Given the description of an element on the screen output the (x, y) to click on. 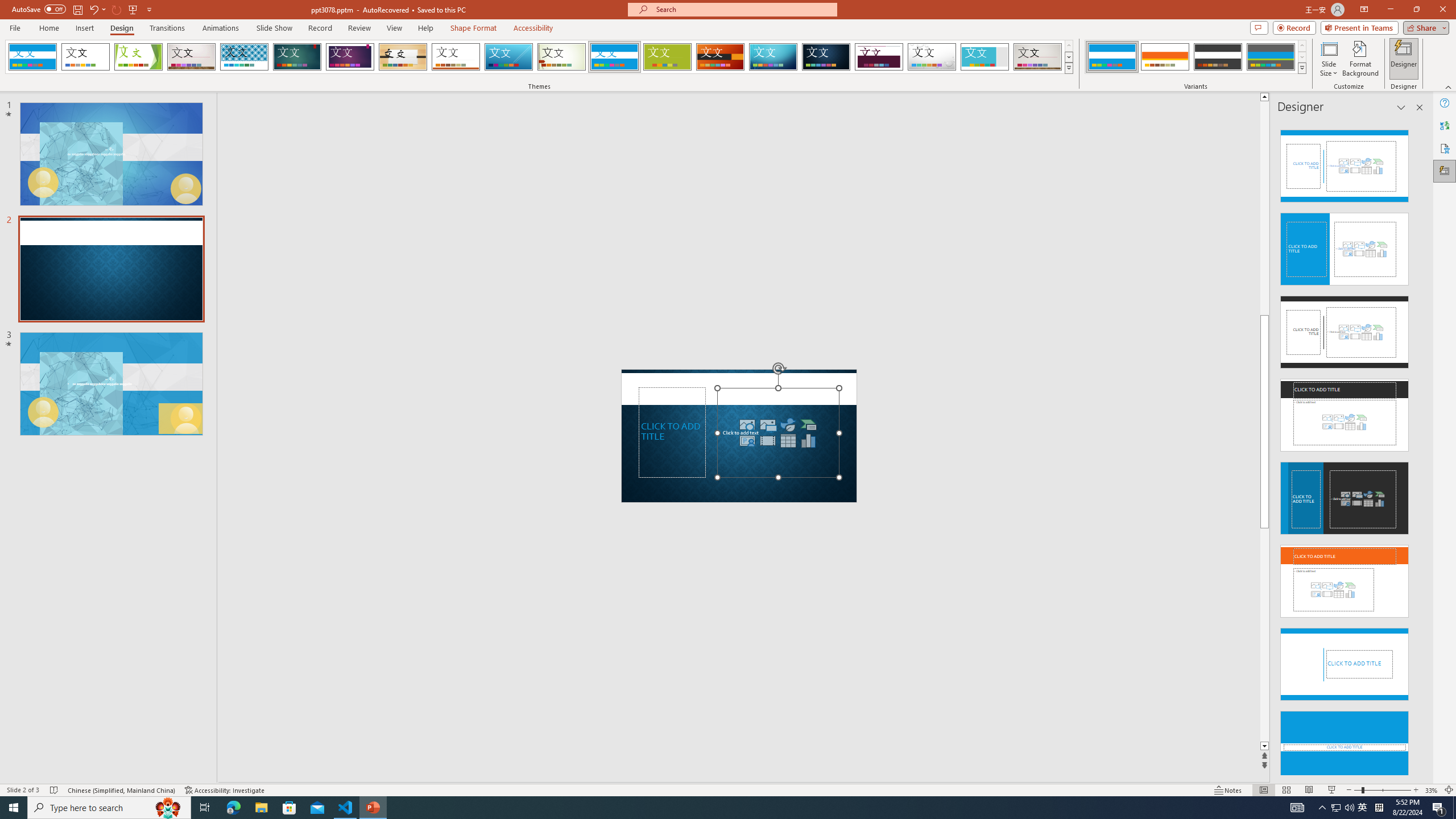
Damask (826, 56)
AutomationID: SlideThemesGallery (539, 56)
Design Idea (1344, 743)
Wisp (561, 56)
Facet (138, 56)
Ion Boardroom (350, 56)
Insert an Icon (787, 424)
Stock Images (747, 424)
Insert Video (767, 440)
